Given the description of an element on the screen output the (x, y) to click on. 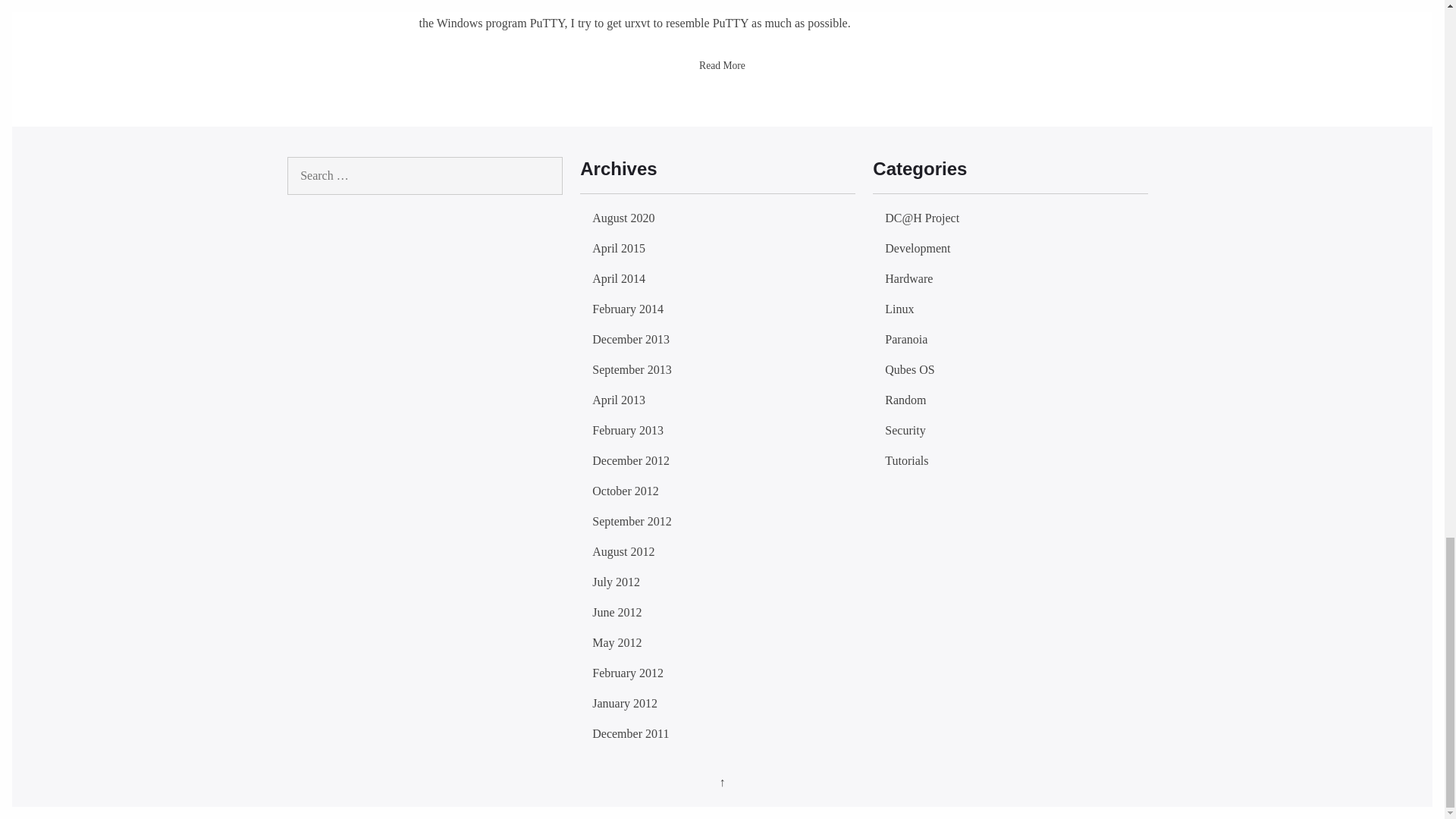
September 2013 (631, 369)
February 2014 (627, 308)
April 2015 (618, 247)
December 2013 (630, 338)
August 2020 (622, 217)
December 2012 (630, 460)
April 2014 (618, 278)
February 2013 (627, 430)
April 2013 (618, 399)
Read More (721, 65)
